Given the description of an element on the screen output the (x, y) to click on. 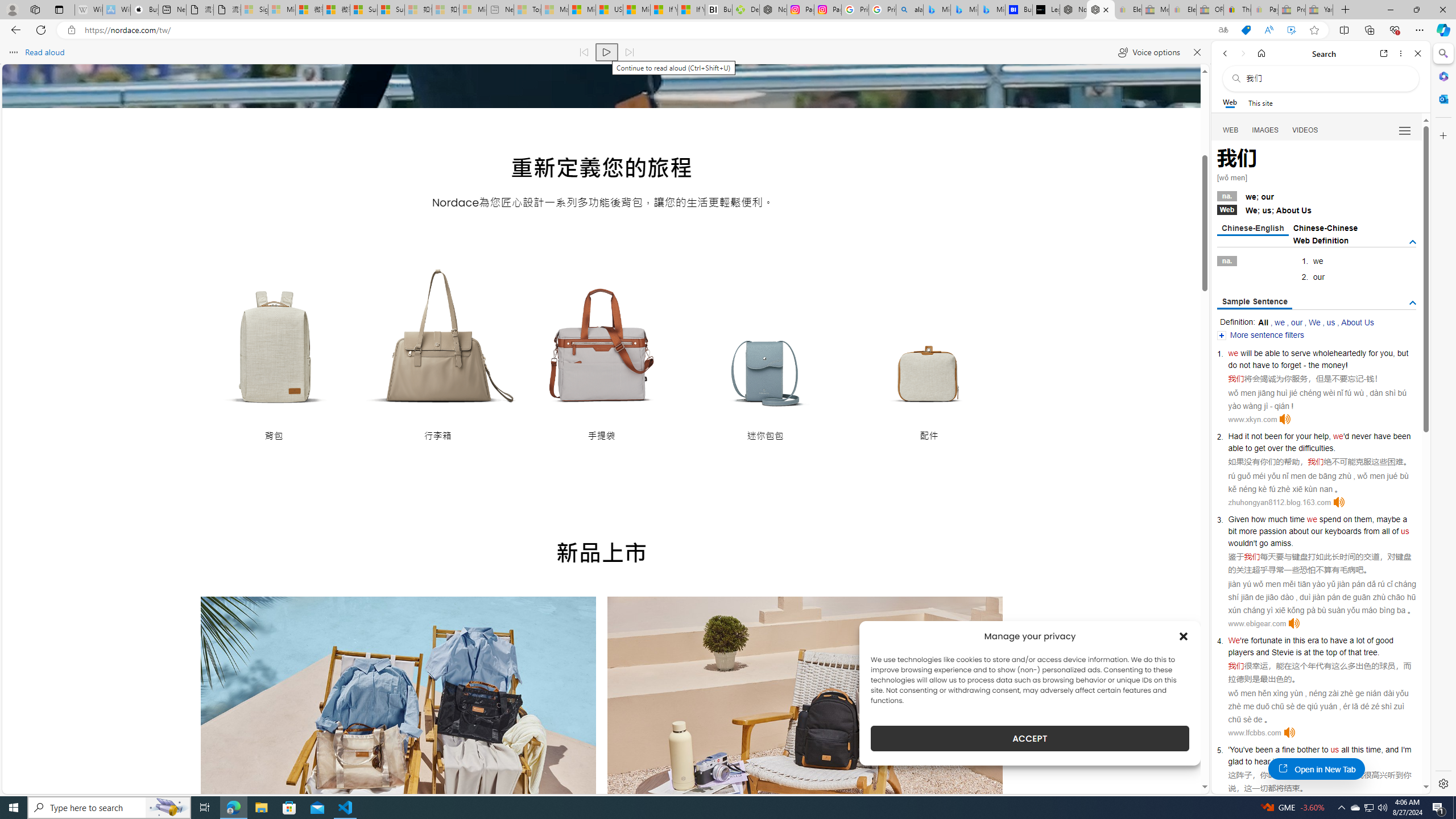
stop (1322, 760)
WEB (1231, 130)
ACCEPT (1029, 738)
Chinese-English (1252, 228)
This site has coupons! Shopping in Microsoft Edge (1245, 29)
- (1364, 378)
Read next paragraph (628, 52)
never (1361, 435)
